Given the description of an element on the screen output the (x, y) to click on. 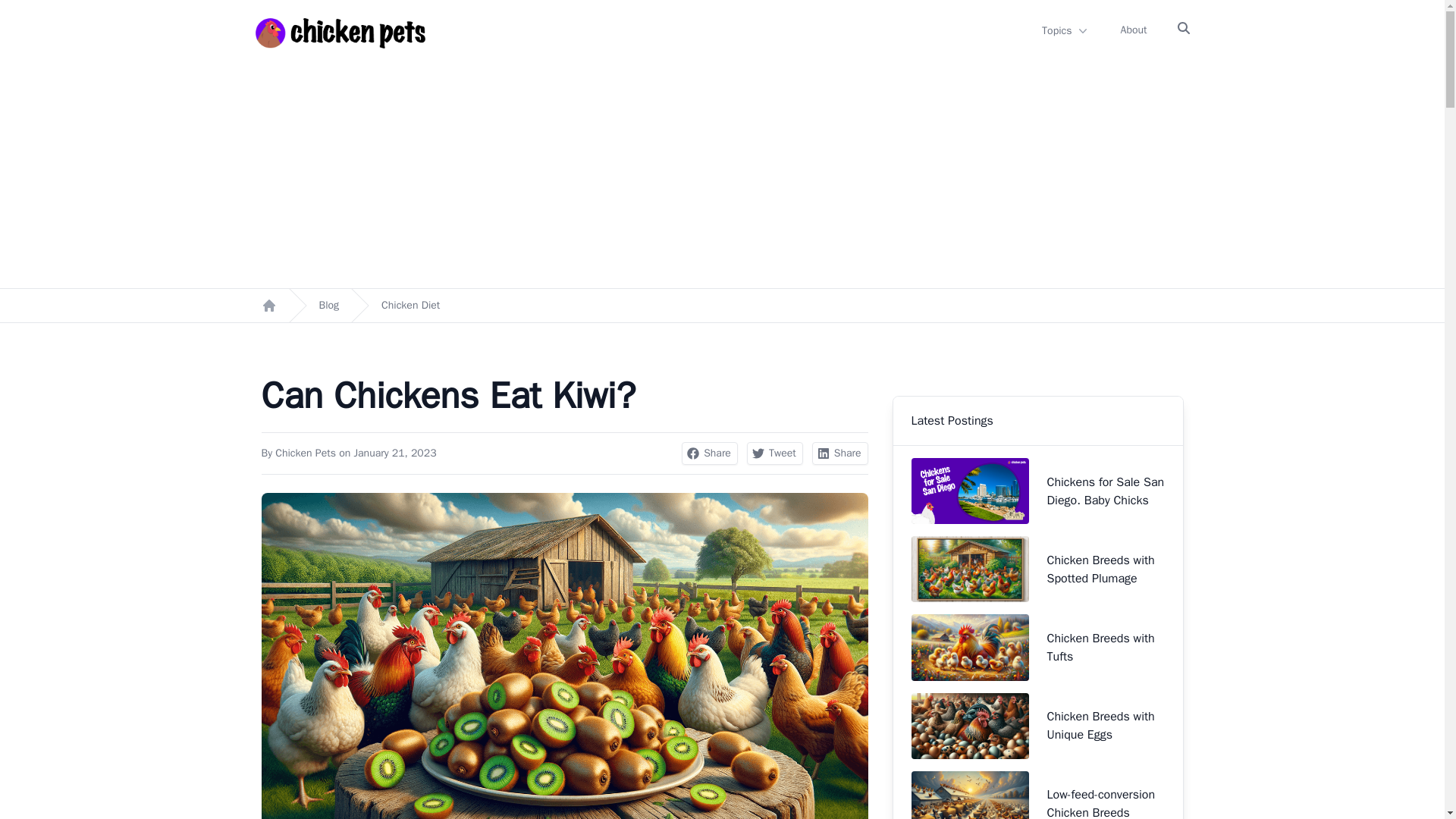
Home (268, 305)
Chicken Breeds with Spotted Plumage (1037, 568)
About (1134, 29)
Chicken Breeds with Tufts (1037, 647)
Topics (1065, 30)
Chicken Diet Articles (410, 305)
Chicken Breeds with Spotted Plumage (1037, 568)
Chicken Pets (305, 452)
Low-feed-conversion Chicken Breeds (1037, 791)
Share (709, 453)
Chickens for Sale San Diego. Baby Chicks (1037, 490)
Chicken Breeds with Unique Eggs (1037, 725)
Tweet (774, 453)
Blog (328, 305)
